Given the description of an element on the screen output the (x, y) to click on. 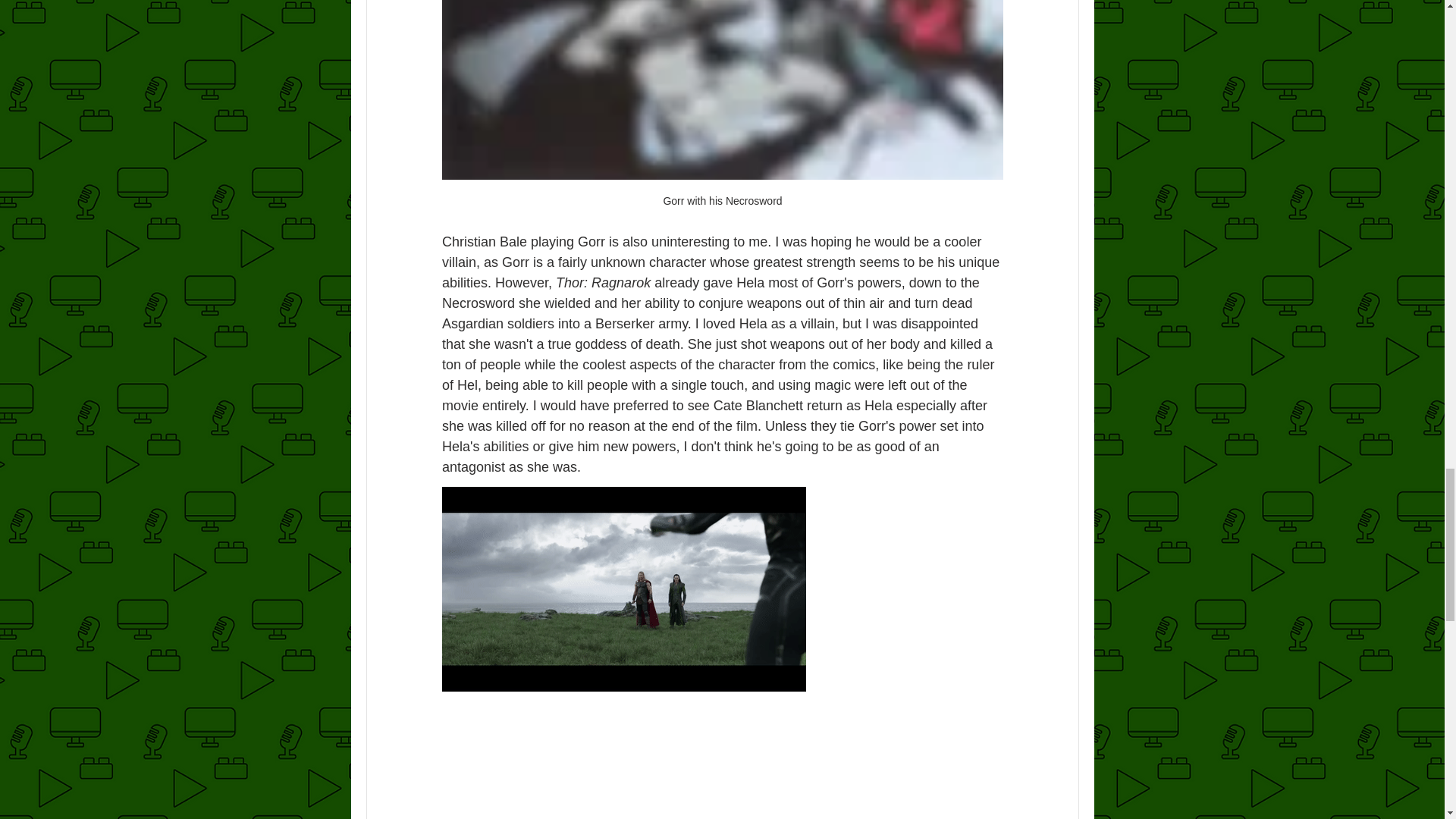
Gorr with his Necrosword (722, 111)
